Given the description of an element on the screen output the (x, y) to click on. 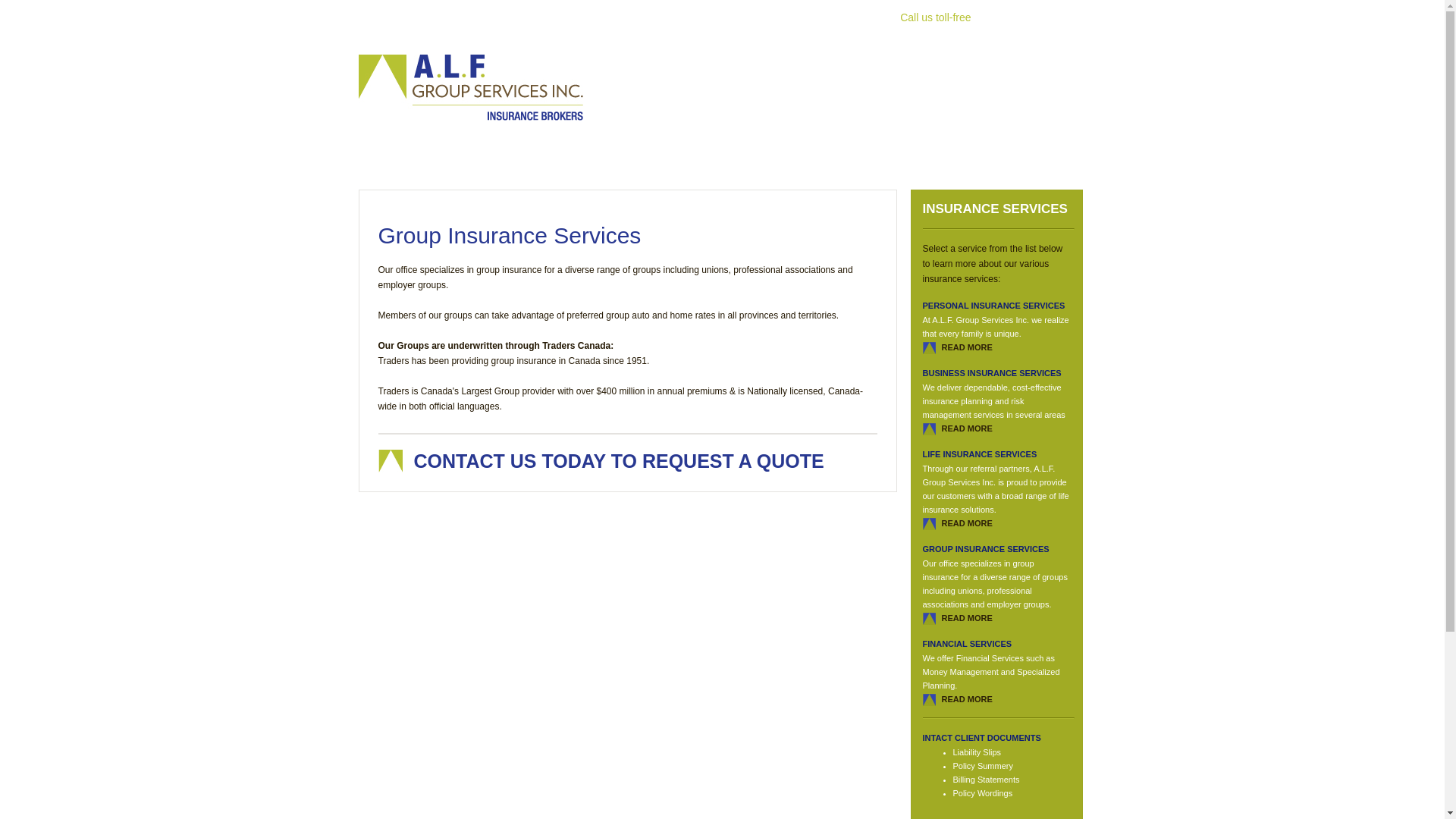
Contact Us Element type: text (846, 12)
READ MORE Element type: text (966, 617)
Home Element type: text (420, 12)
READ MORE Element type: text (966, 522)
CONTACT US TODAY TO REQUEST A QUOTE Element type: text (619, 460)
READ MORE Element type: text (966, 428)
Insurance Services Element type: text (569, 12)
READ MORE Element type: text (966, 698)
READ MORE Element type: text (966, 346)
What's New Element type: text (661, 12)
INSURANCE SERVICES Element type: text (994, 208)
Reporting A Claim Element type: text (754, 12)
About Us Element type: text (479, 12)
